Given the description of an element on the screen output the (x, y) to click on. 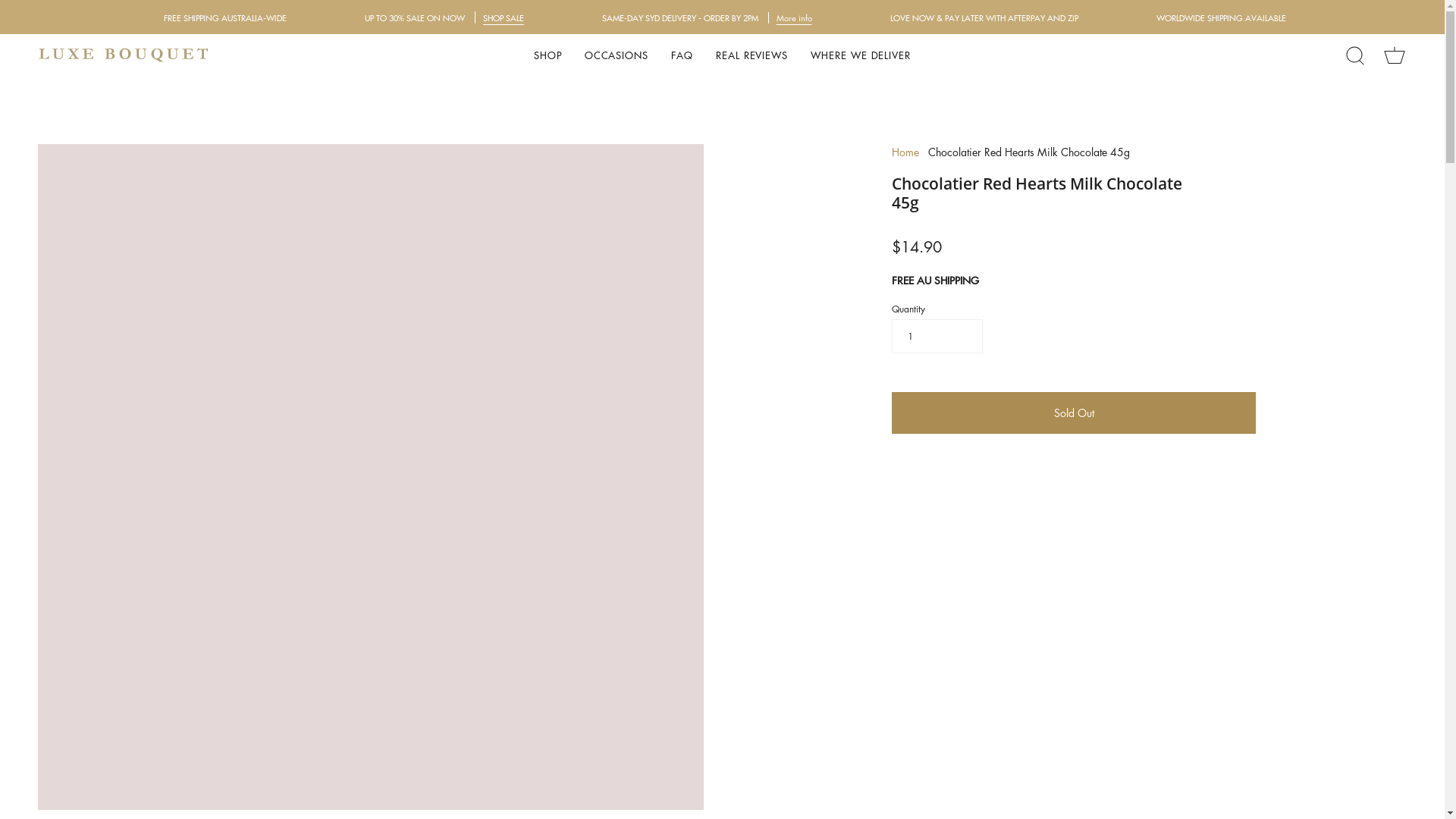
SHOP Element type: text (547, 55)
OCCASIONS Element type: text (616, 55)
WHERE WE DELIVER Element type: text (860, 55)
FAQ Element type: text (681, 55)
CART Element type: text (1394, 55)
Home Element type: text (905, 151)
SHOP SALE Element type: text (502, 16)
SEARCH Element type: text (1354, 55)
1 Element type: text (936, 336)
More info Element type: text (794, 17)
REAL REVIEWS Element type: text (751, 55)
Sold Out Element type: text (1073, 412)
